Given the description of an element on the screen output the (x, y) to click on. 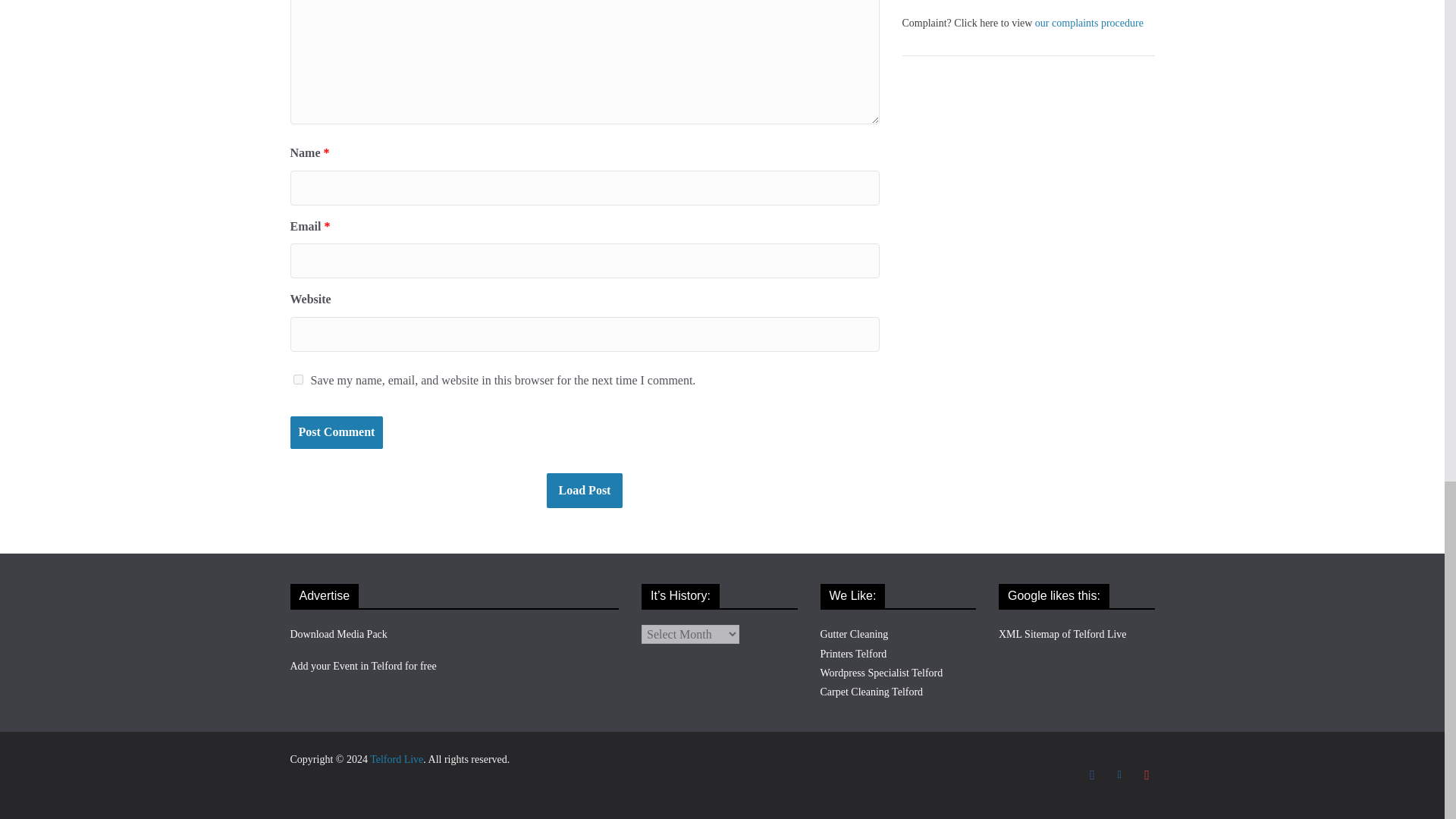
Post Comment (335, 432)
yes (297, 379)
our complaints procedure (1088, 22)
Add your Event in Telford for free (362, 665)
Load Post (585, 489)
Telford Live (396, 758)
Post Comment (335, 432)
Download Media Pack (338, 633)
